Given the description of an element on the screen output the (x, y) to click on. 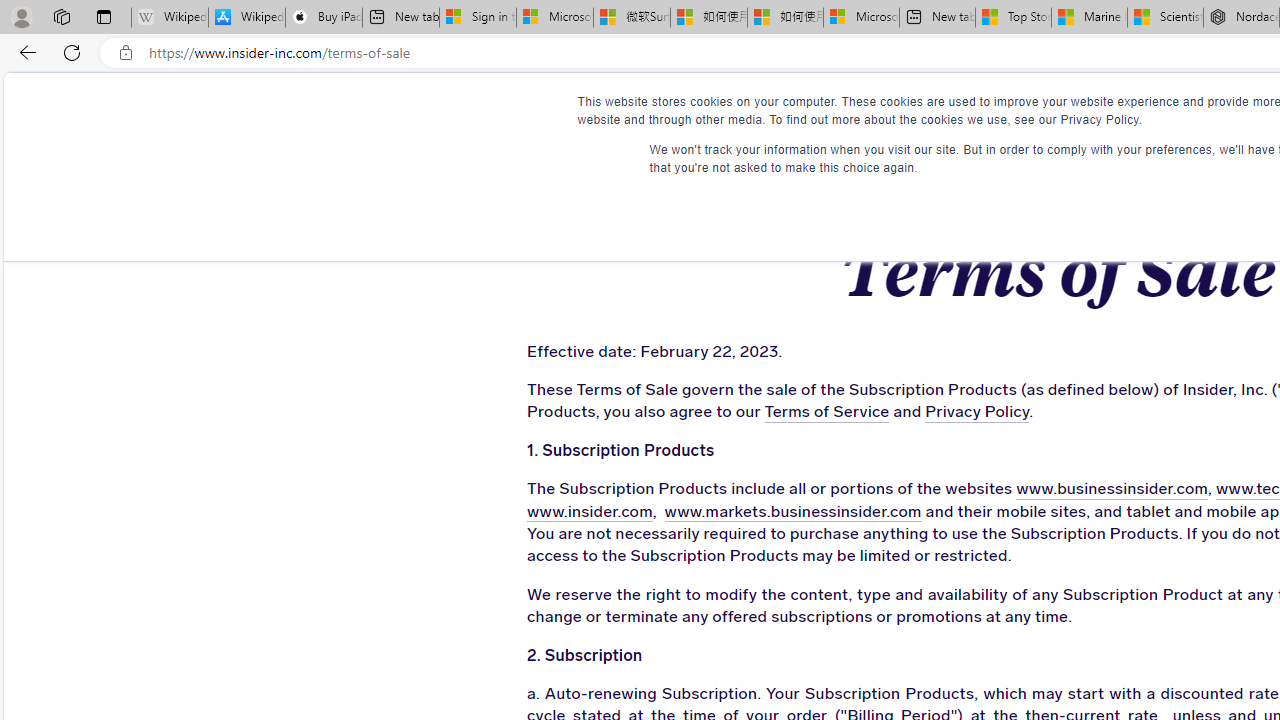
www.insider.com (589, 511)
www.markets.businessinsider.com (792, 511)
ADVERTISE WITH US (786, 110)
Insider Inc. (1057, 111)
